Given the description of an element on the screen output the (x, y) to click on. 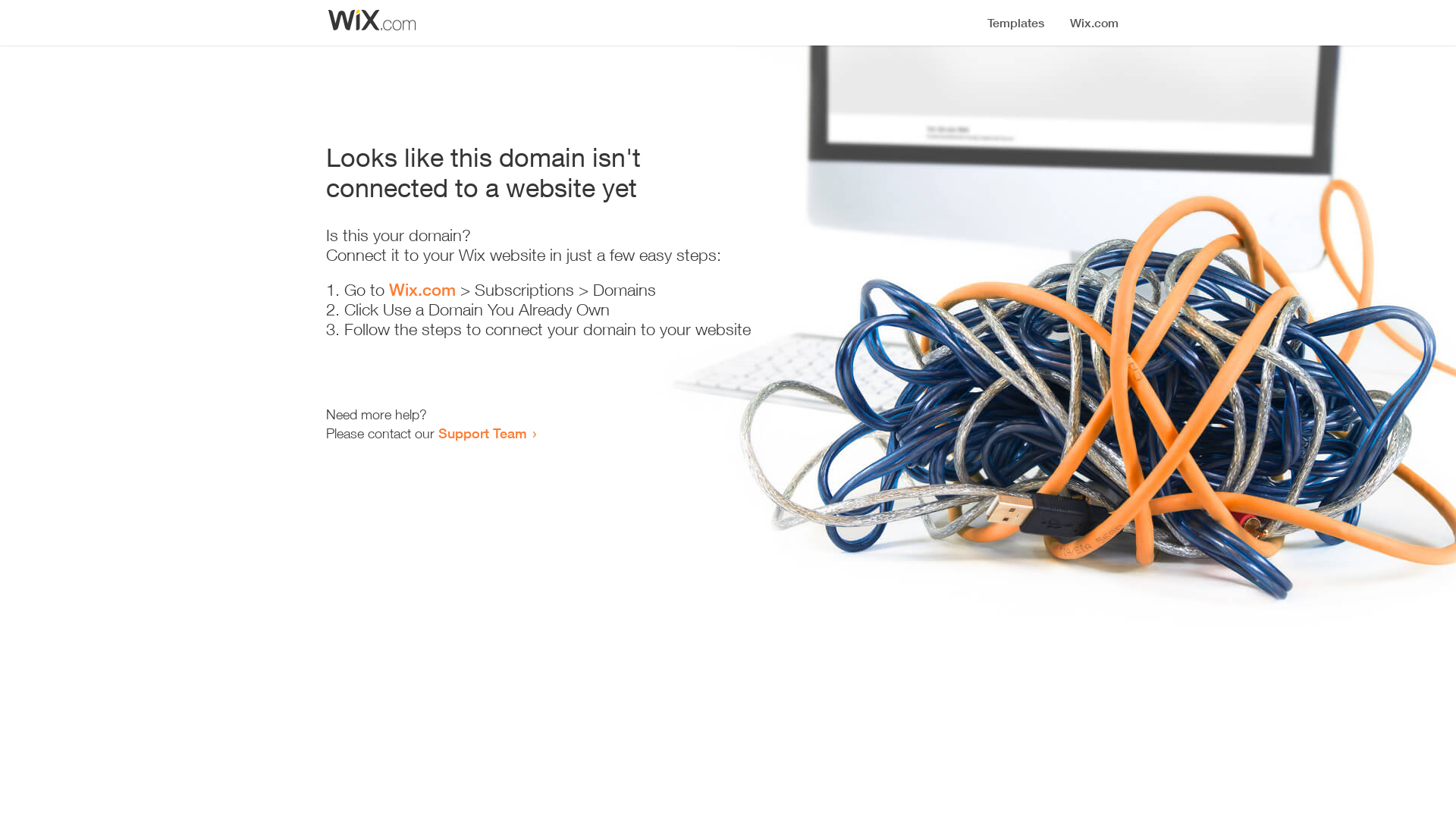
Wix.com Element type: text (422, 289)
Support Team Element type: text (482, 432)
